Given the description of an element on the screen output the (x, y) to click on. 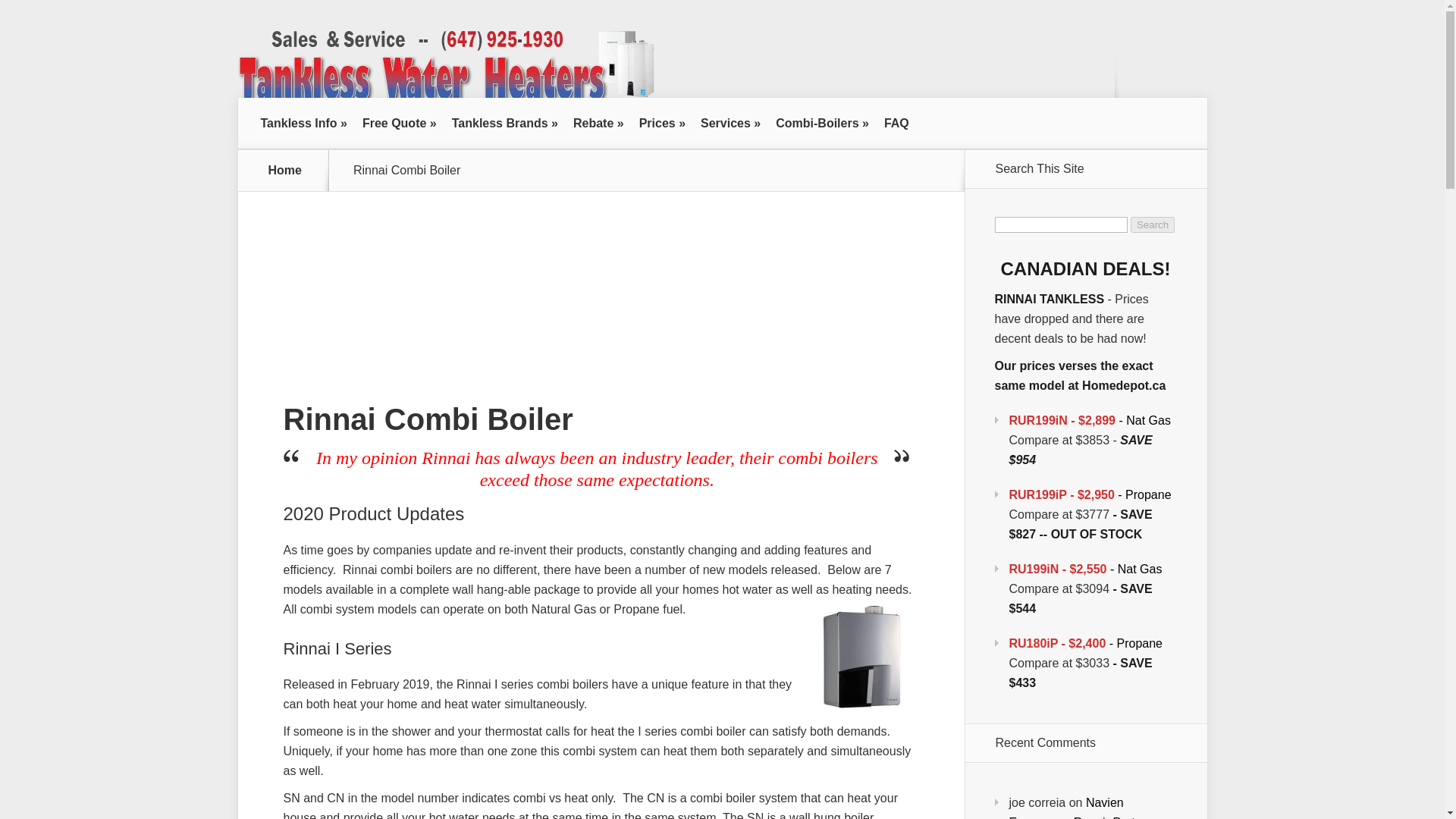
Search (1152, 224)
